Given the description of an element on the screen output the (x, y) to click on. 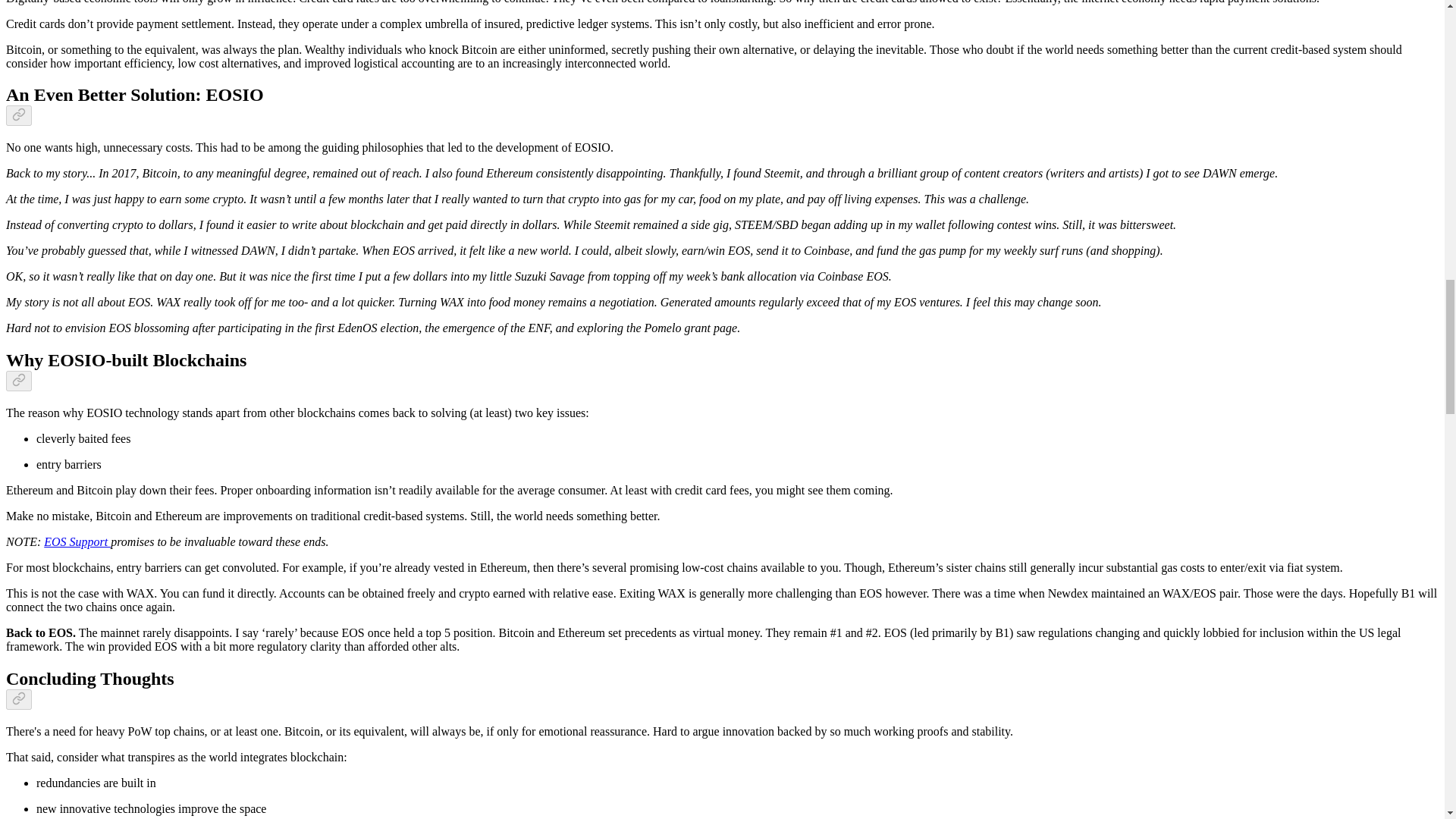
EOS Support (76, 541)
